Given the description of an element on the screen output the (x, y) to click on. 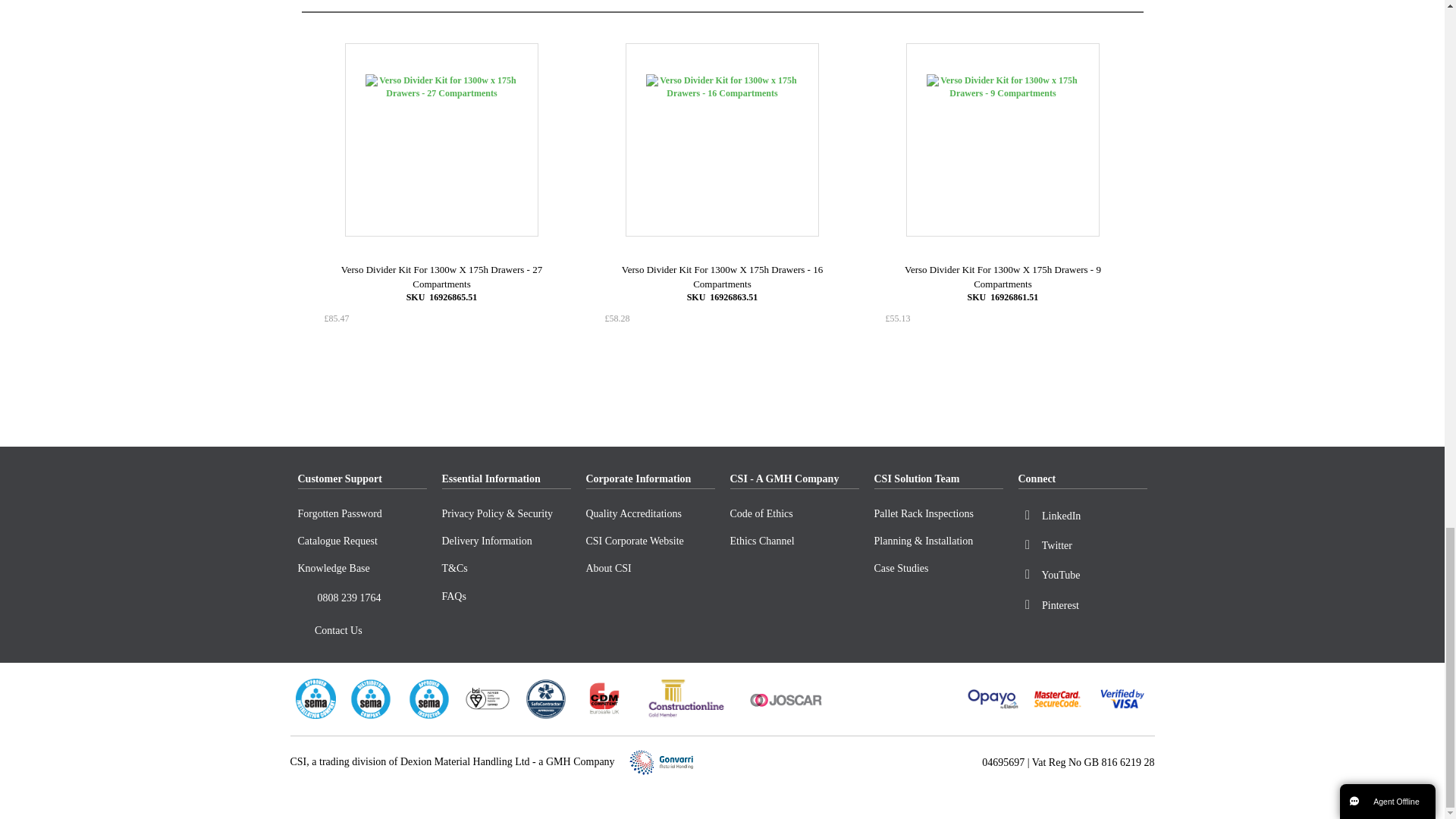
Description of icon when needed (305, 630)
Description of icon when needed (305, 599)
